Given the description of an element on the screen output the (x, y) to click on. 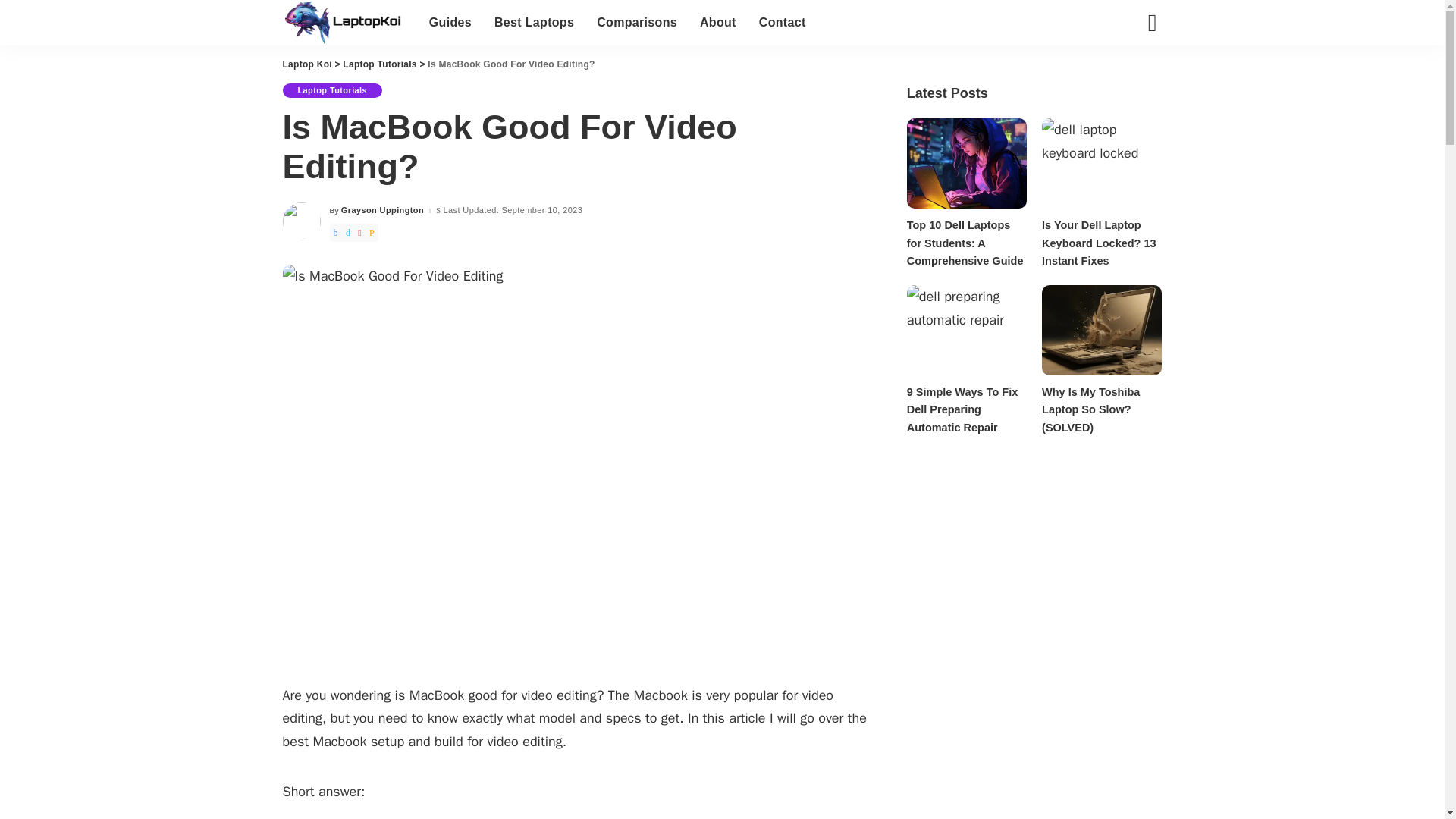
Go to Laptop Koi . (308, 63)
Pinterest (359, 232)
Best Laptops (534, 22)
Twitter (347, 232)
Go to the Laptop Tutorials Category archives. (379, 63)
Laptop Koi  (344, 22)
Facebook (334, 232)
Guides (450, 22)
Email (371, 232)
